Given the description of an element on the screen output the (x, y) to click on. 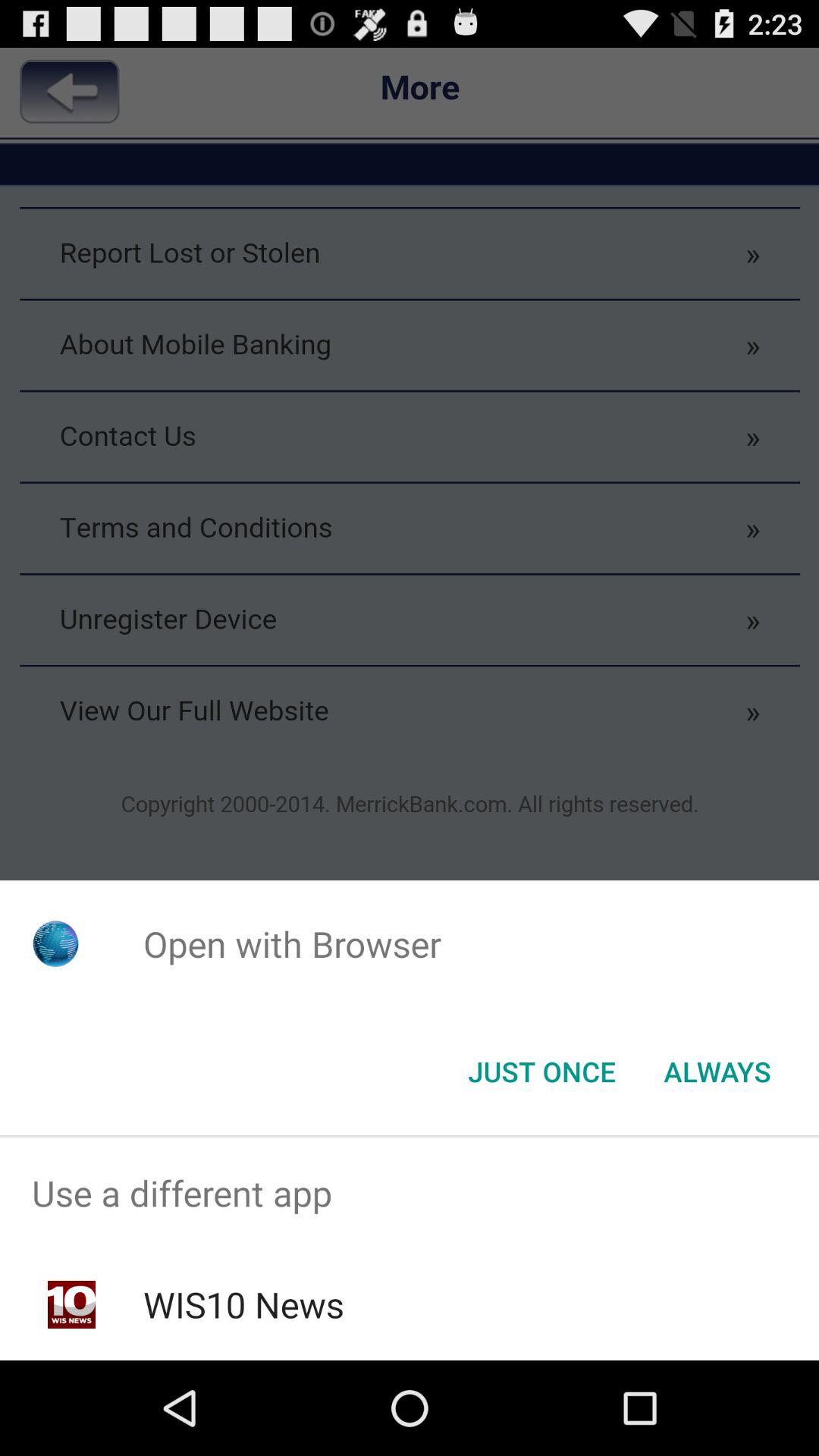
scroll to just once (541, 1071)
